Given the description of an element on the screen output the (x, y) to click on. 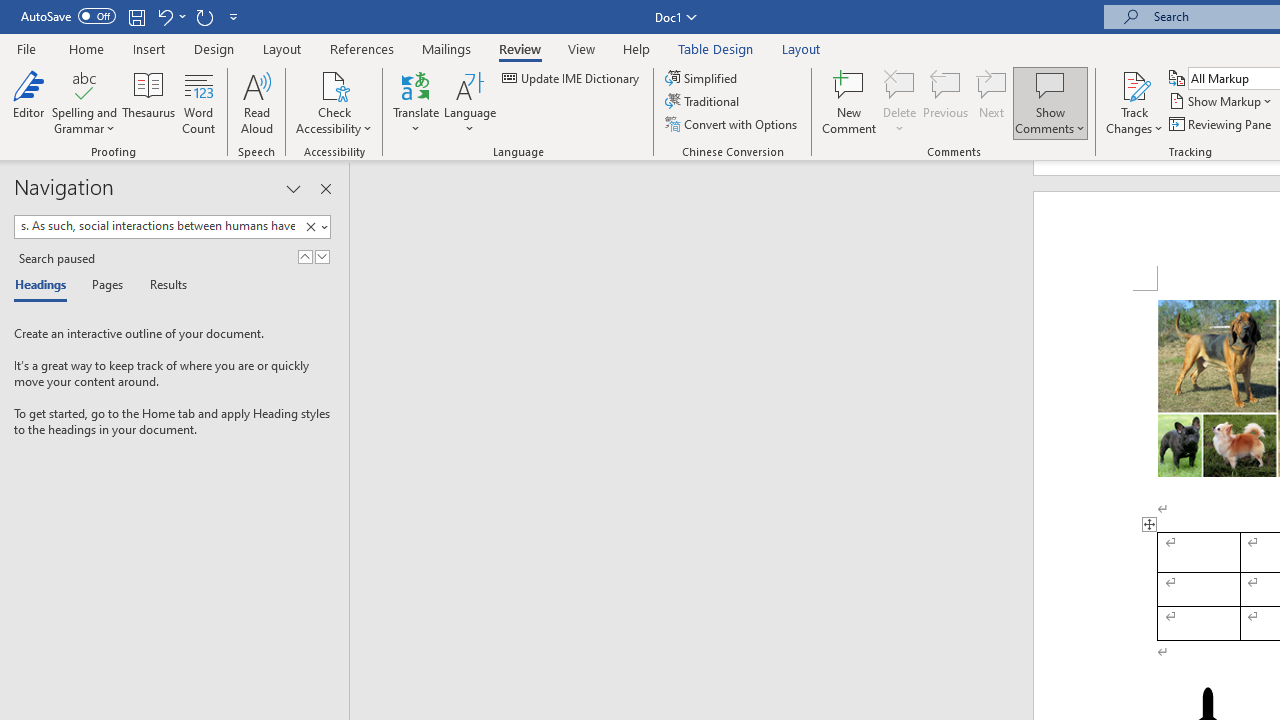
Convert with Options... (732, 124)
Update IME Dictionary... (572, 78)
Undo Style (164, 15)
Track Changes (1134, 102)
Check Accessibility (334, 102)
Previous Result (304, 256)
Clear (310, 227)
